Given the description of an element on the screen output the (x, y) to click on. 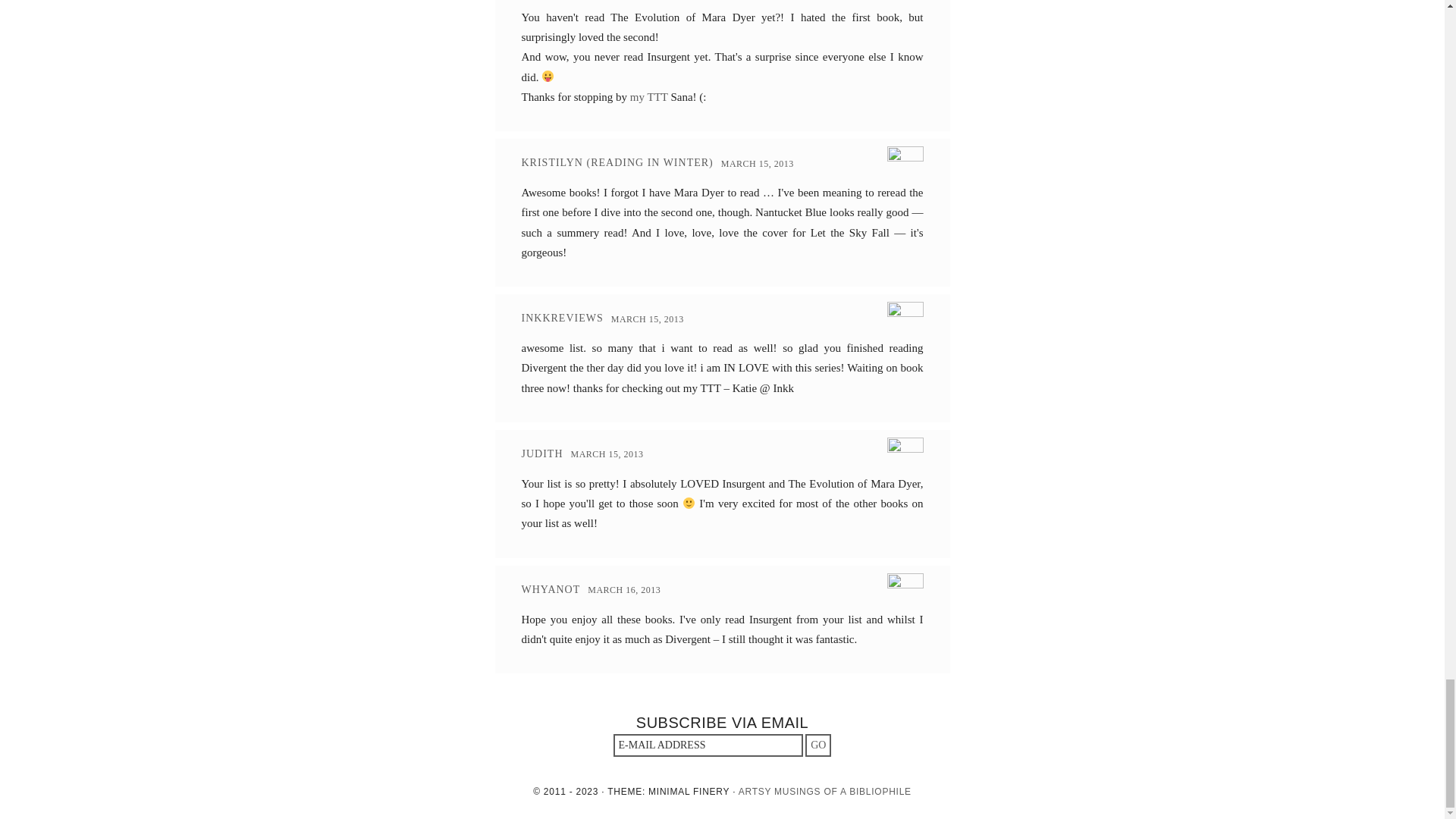
Go (818, 744)
